Given the description of an element on the screen output the (x, y) to click on. 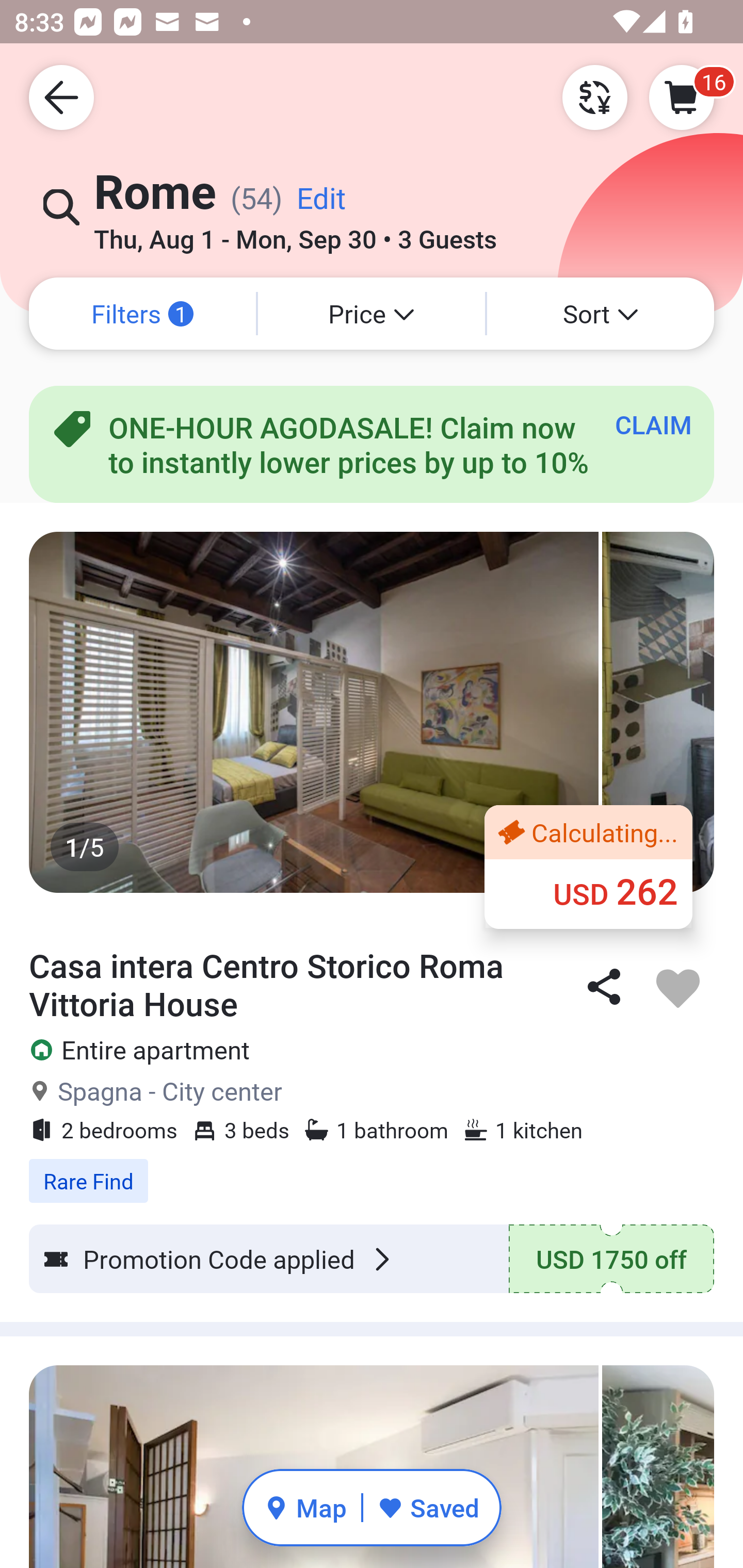
Filters 1 (141, 313)
Price (371, 313)
Sort (600, 313)
CLAIM (653, 424)
1/5 (371, 711)
Calculating... ‪USD 262 (588, 866)
Rare Find (371, 1170)
Promotion Code applied USD 1750 off (371, 1259)
Map (305, 1507)
Saved (428, 1507)
